Given the description of an element on the screen output the (x, y) to click on. 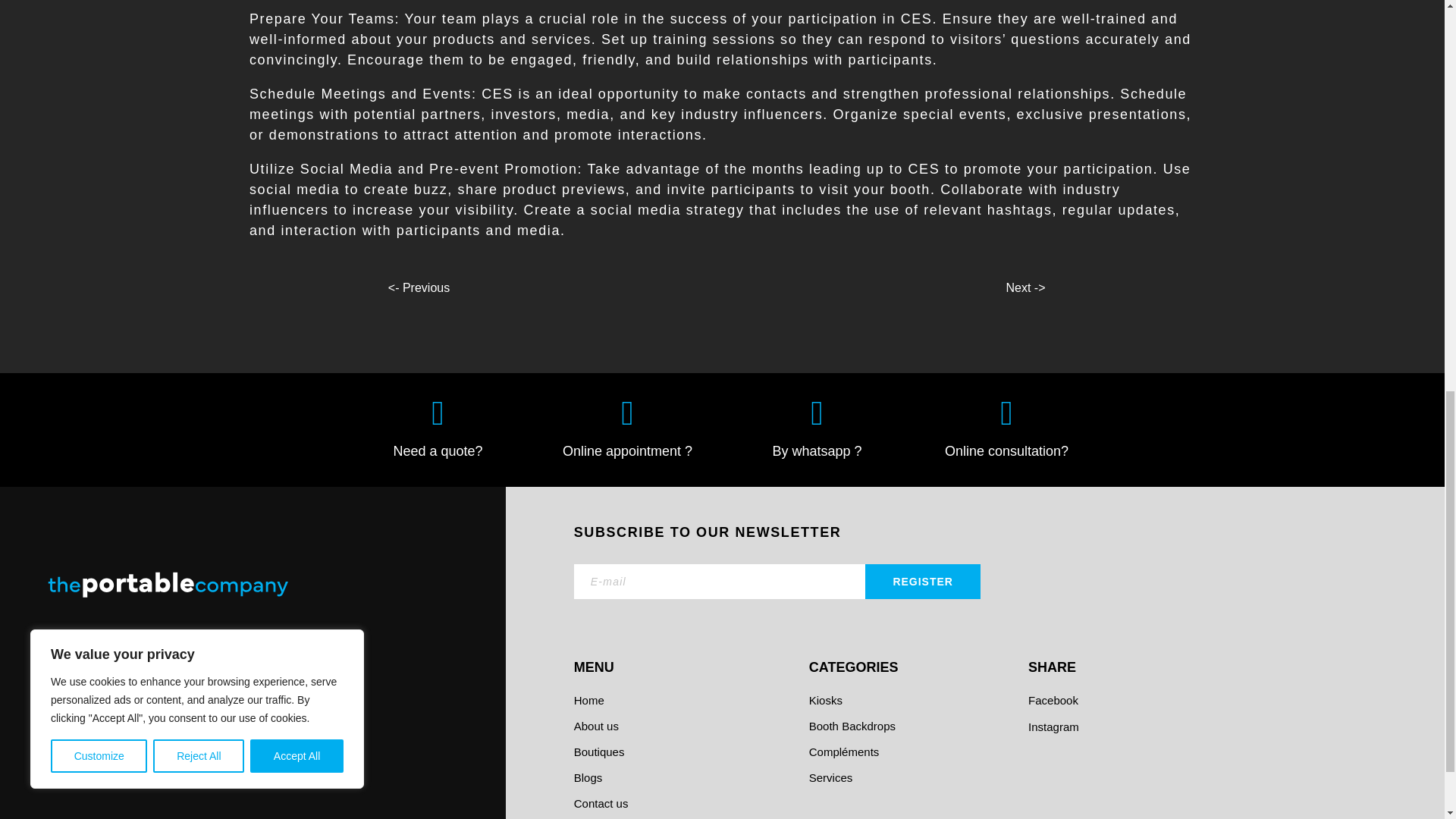
Need a quote? (437, 450)
Online appointment ? (627, 450)
register (921, 581)
